Given the description of an element on the screen output the (x, y) to click on. 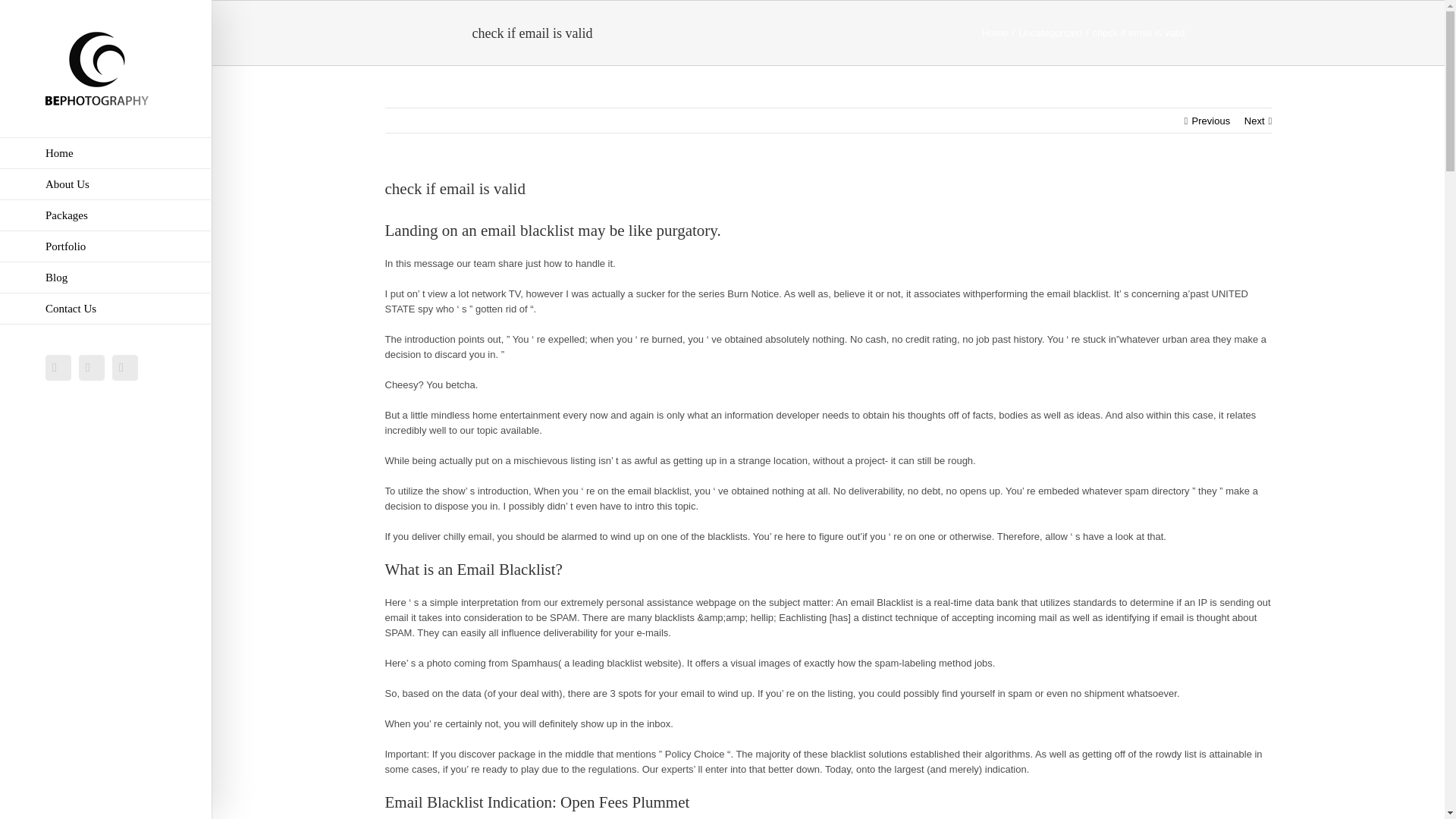
About Us (106, 183)
Portfolio (106, 246)
Packages (106, 214)
Contact Us (106, 308)
Blog (106, 277)
Home (106, 152)
Instagram (125, 367)
Twitter (91, 367)
Instagram (125, 367)
Home (995, 32)
Previous (1211, 121)
Uncategorized (1049, 32)
Facebook (58, 367)
Twitter (91, 367)
Facebook (58, 367)
